Given the description of an element on the screen output the (x, y) to click on. 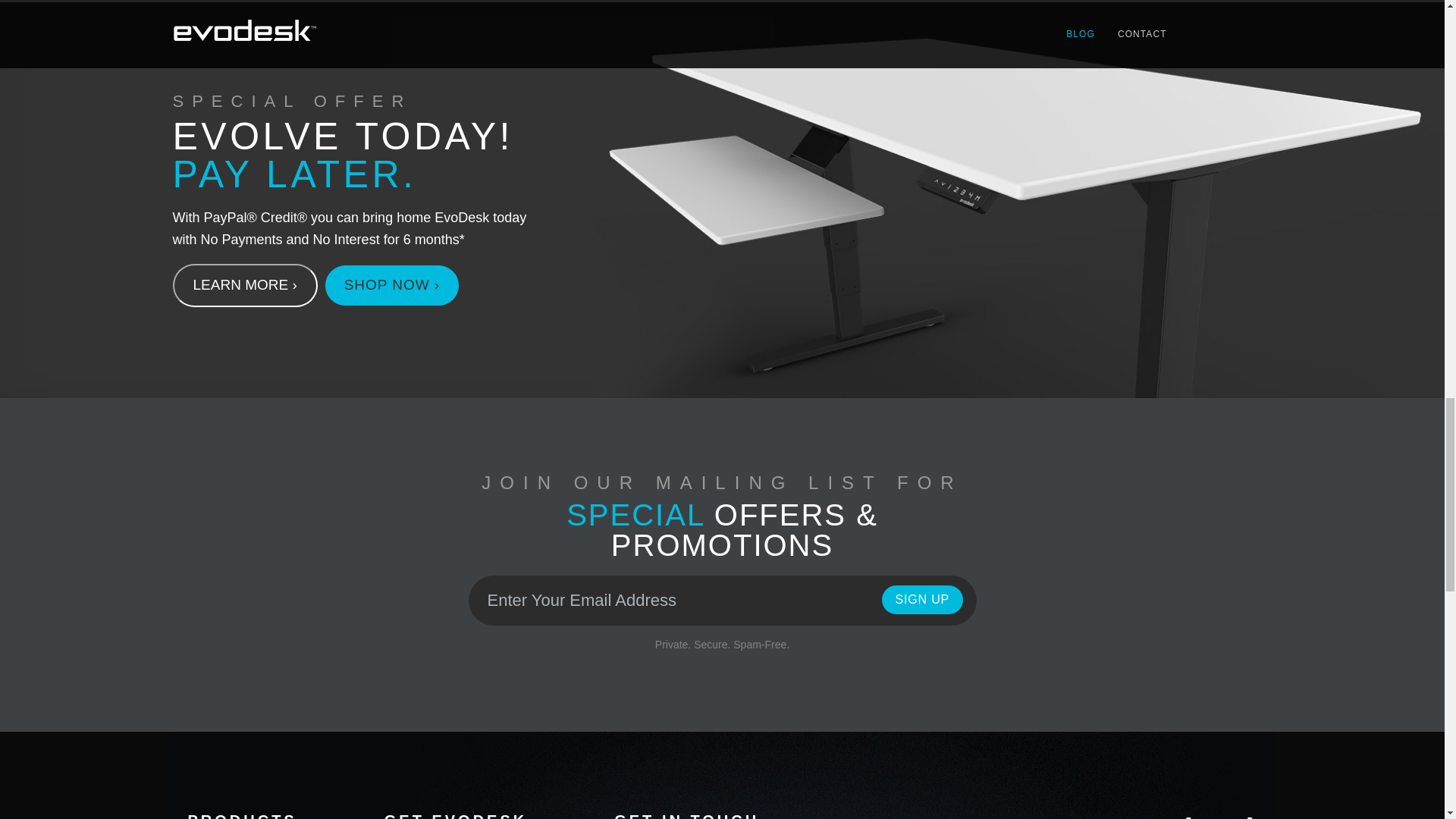
GET IN TOUCH (686, 815)
GET EVODESK (455, 815)
PRODUCTS (242, 815)
Sign Up (922, 599)
Sign Up (922, 599)
